Given the description of an element on the screen output the (x, y) to click on. 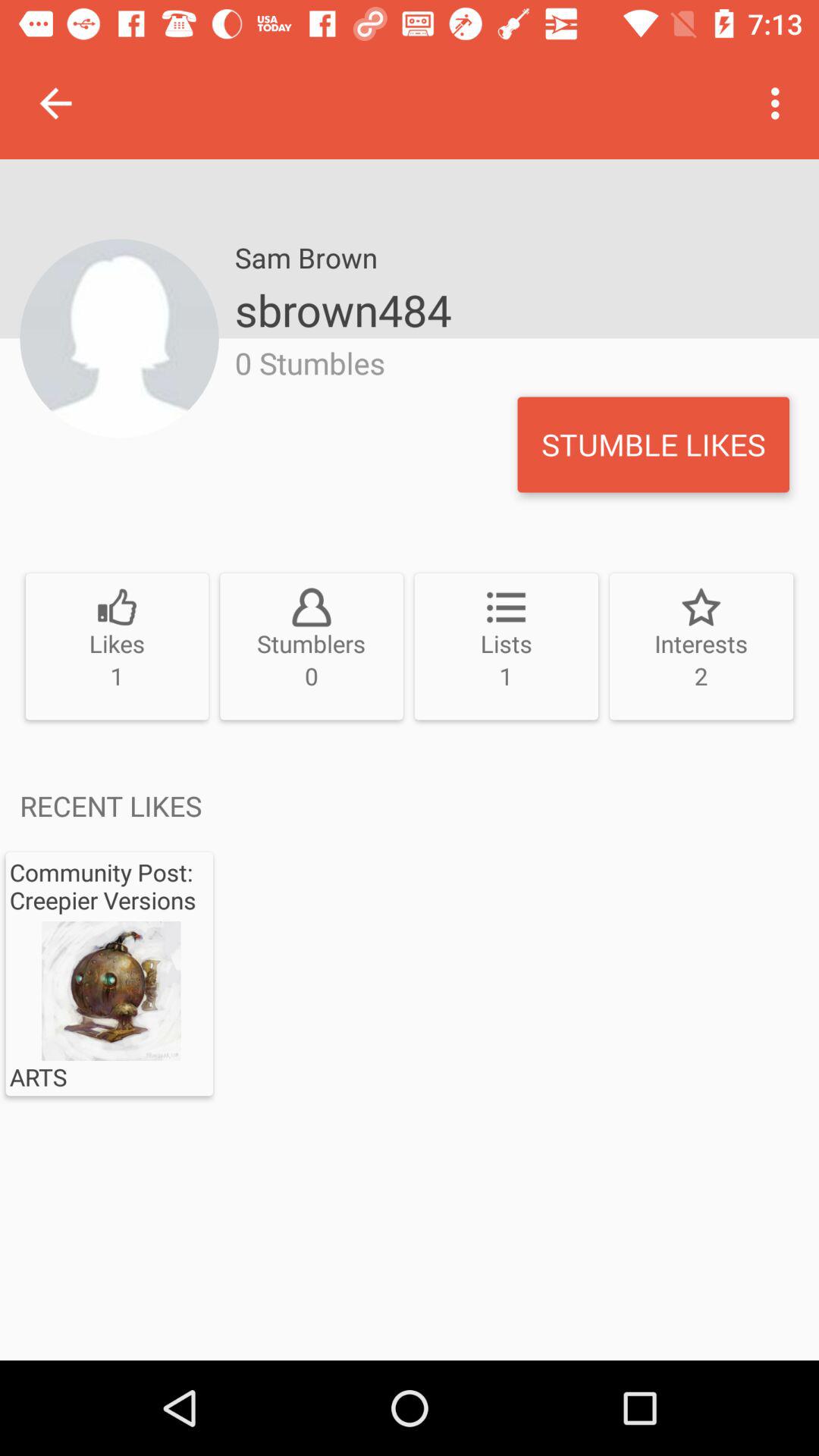
choose the icon to the right of 0 stumbles (653, 444)
